Given the description of an element on the screen output the (x, y) to click on. 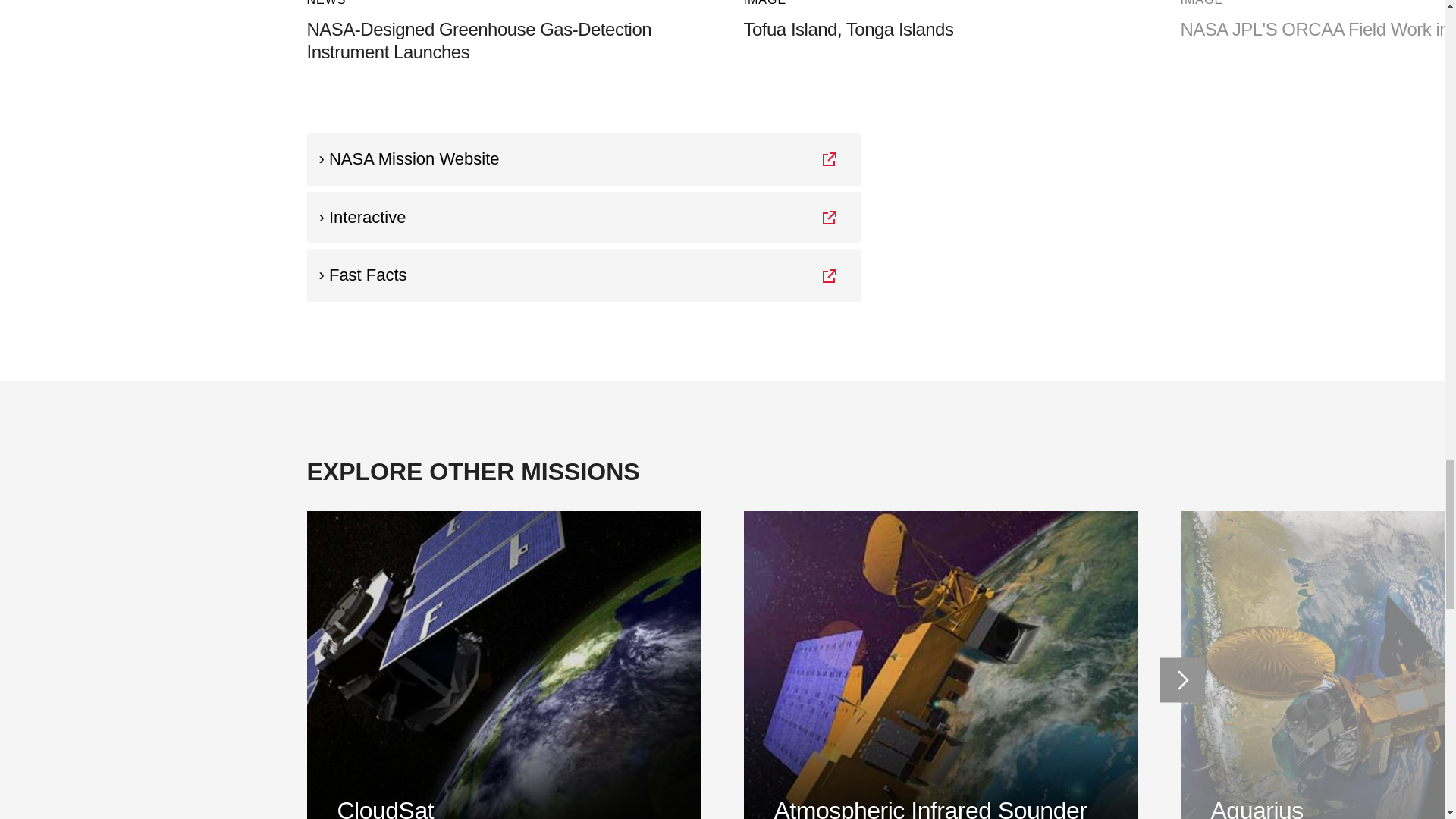
CloudSat (939, 28)
